Given the description of an element on the screen output the (x, y) to click on. 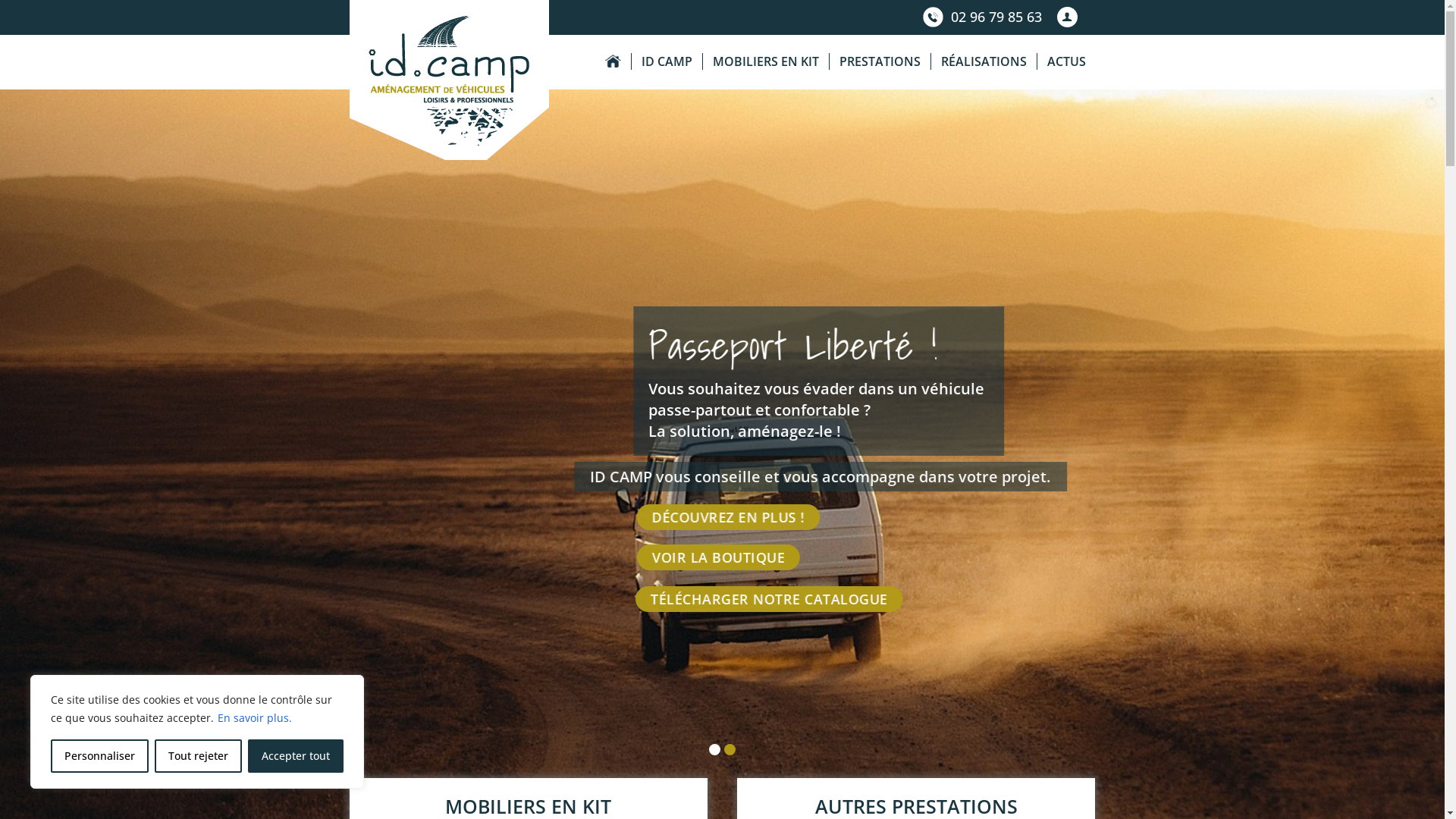
Tout rejeter Element type: text (197, 755)
Accepter tout Element type: text (295, 755)
Personnaliser Element type: text (99, 755)
ACTUS Element type: text (1065, 61)
En savoir plus. Element type: text (254, 717)
MOBILIERS EN KIT Element type: text (765, 61)
ID CAMP Element type: text (666, 61)
PRESTATIONS Element type: text (878, 61)
Identification / Enregistrement Element type: hover (1067, 16)
